Given the description of an element on the screen output the (x, y) to click on. 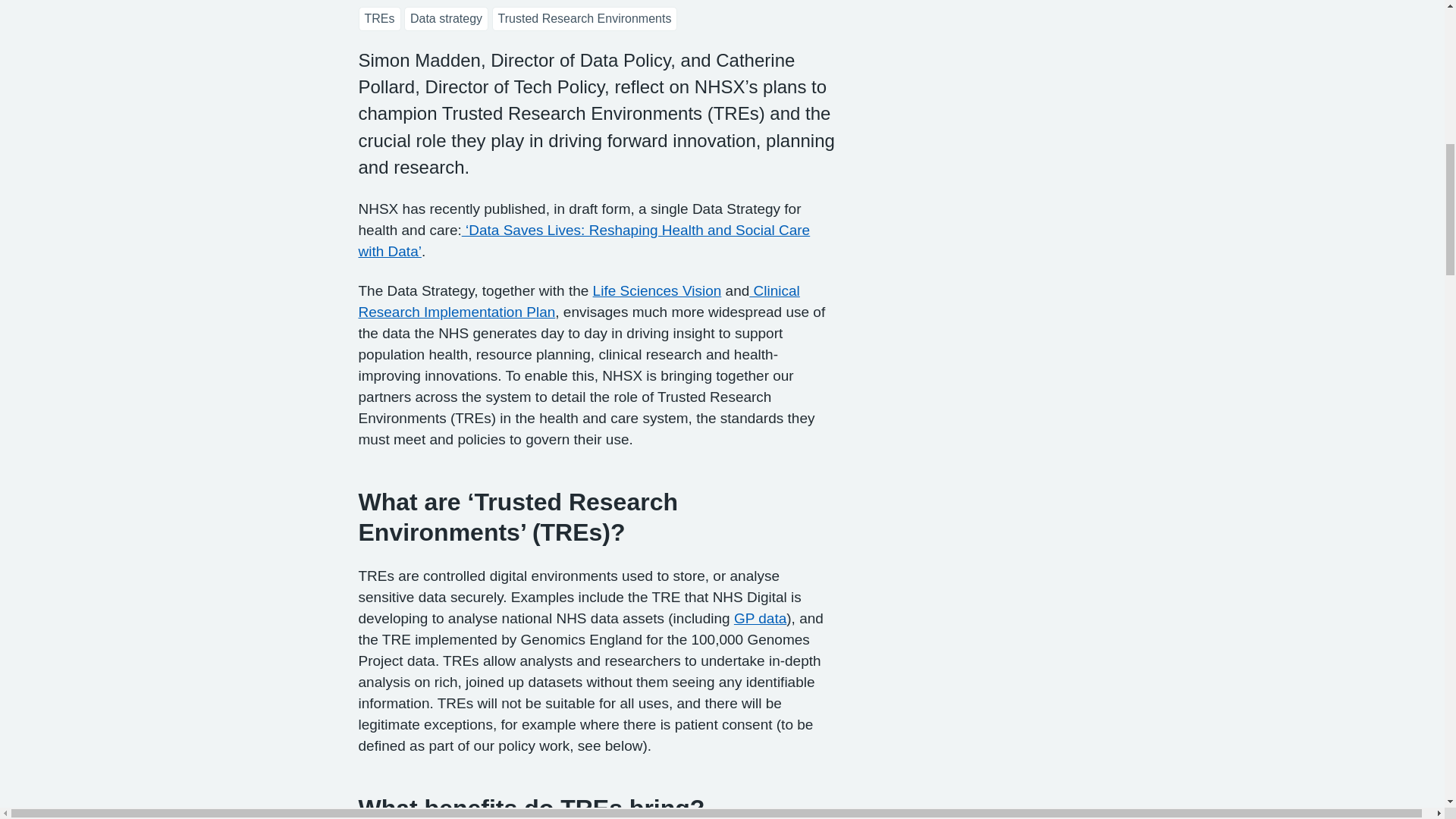
GP data (759, 618)
Life Sciences Vision (657, 290)
TREs (379, 17)
Clinical Research Implementation Plan (578, 301)
Data strategy (445, 17)
Trusted Research Environments (585, 17)
